Given the description of an element on the screen output the (x, y) to click on. 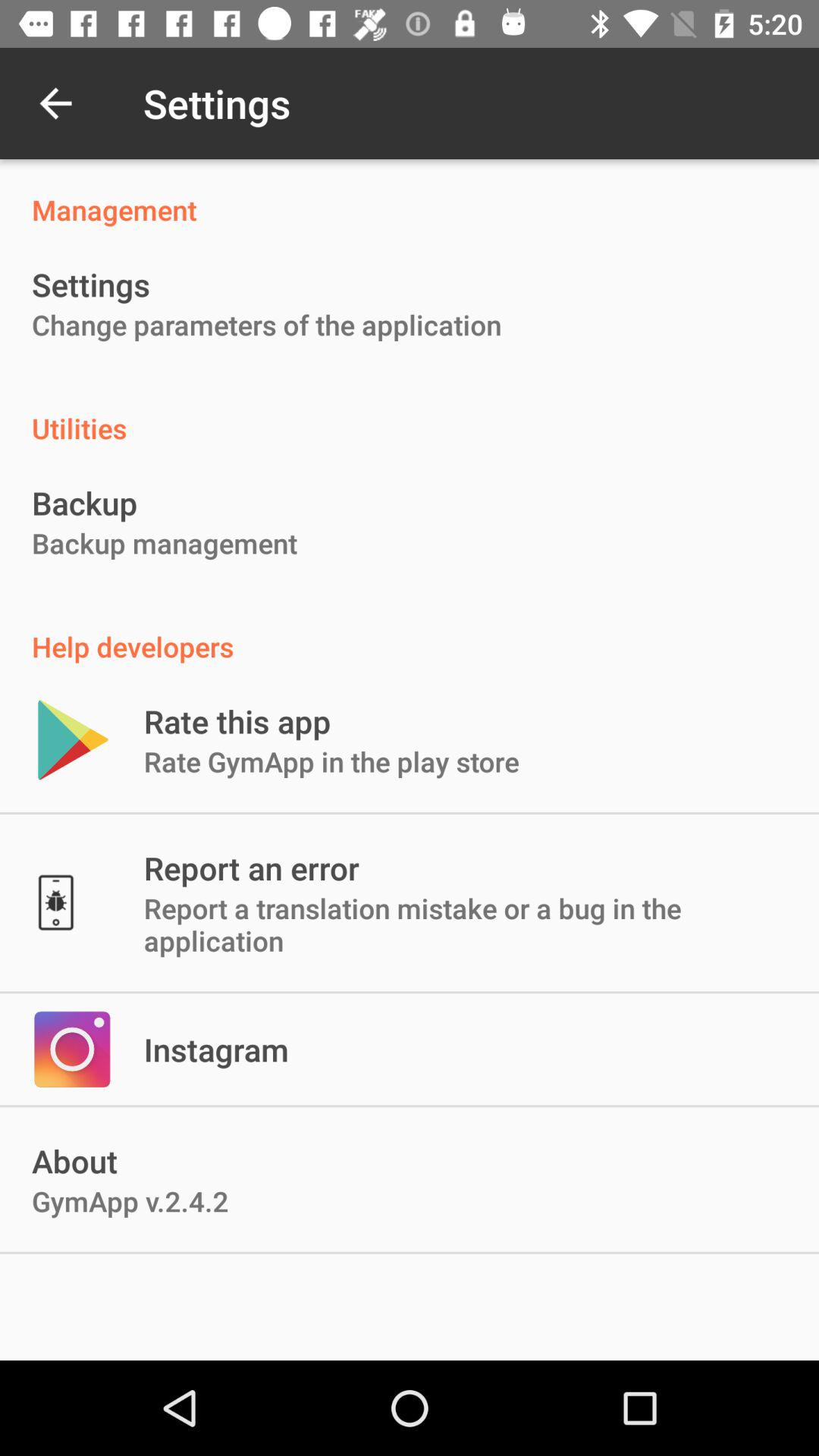
select help developers (409, 630)
